Given the description of an element on the screen output the (x, y) to click on. 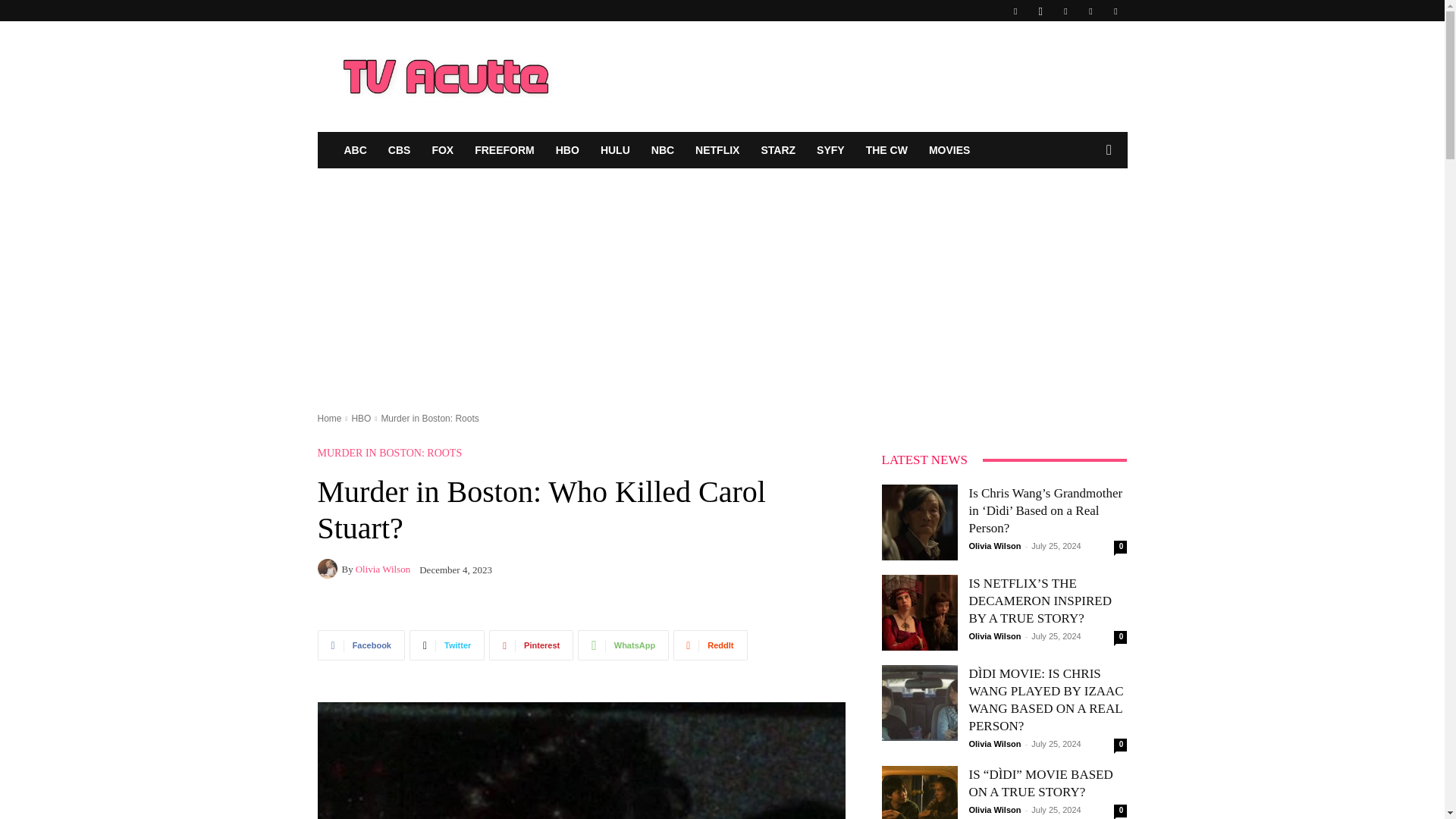
Olivia Wilson (328, 568)
THE CW (887, 149)
FREEFORM (504, 149)
FOX (442, 149)
Twitter (446, 644)
NETFLIX (716, 149)
SYFY (831, 149)
Twitter (1090, 10)
ABC (355, 149)
STARZ (777, 149)
View all posts in Murder in Boston: Roots (429, 418)
Youtube (1114, 10)
Facebook (360, 644)
CBS (399, 149)
